Given the description of an element on the screen output the (x, y) to click on. 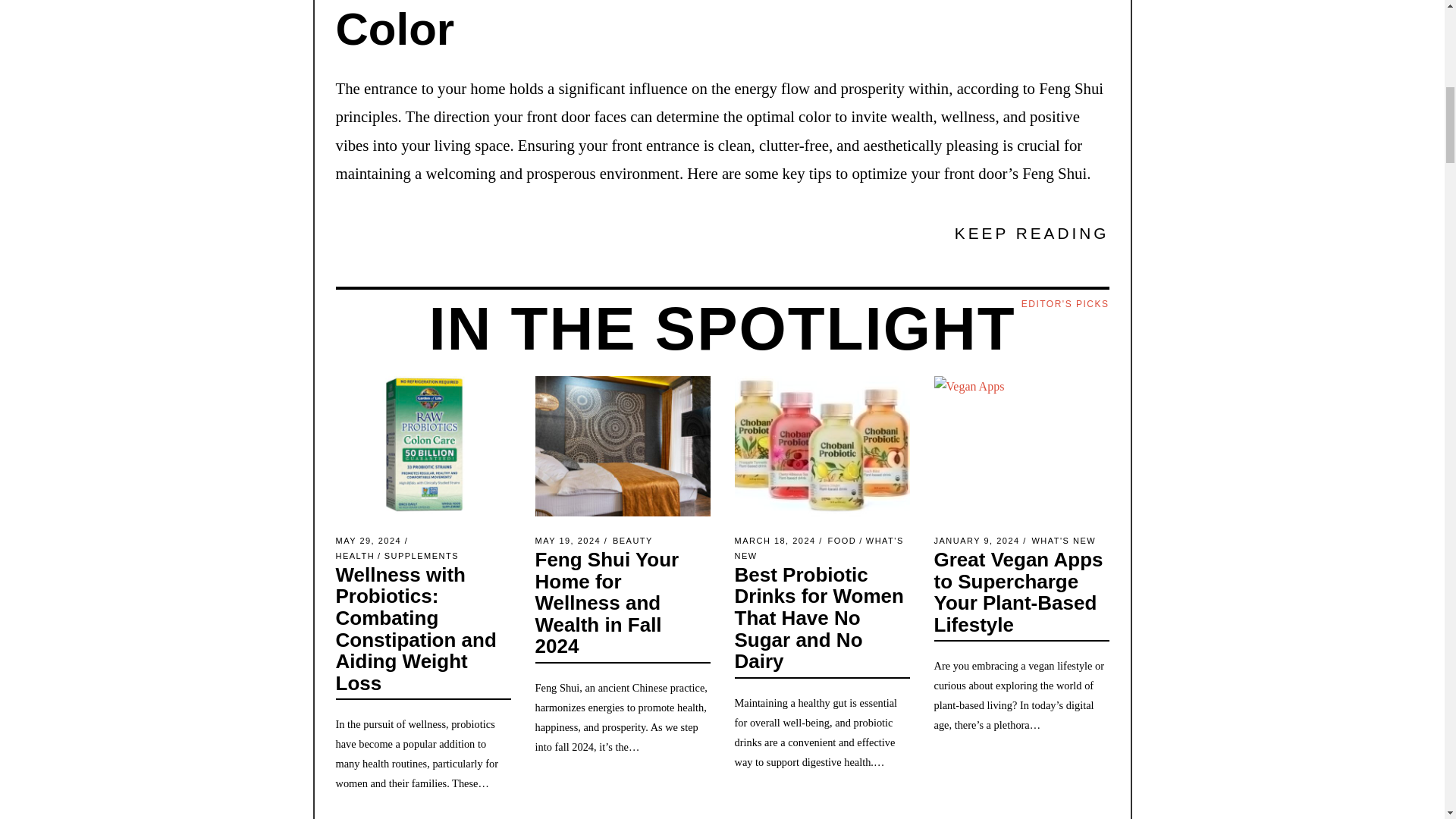
EDITOR'S PICKS (1065, 304)
HEALTH (354, 555)
KEEP READING (1032, 233)
